Given the description of an element on the screen output the (x, y) to click on. 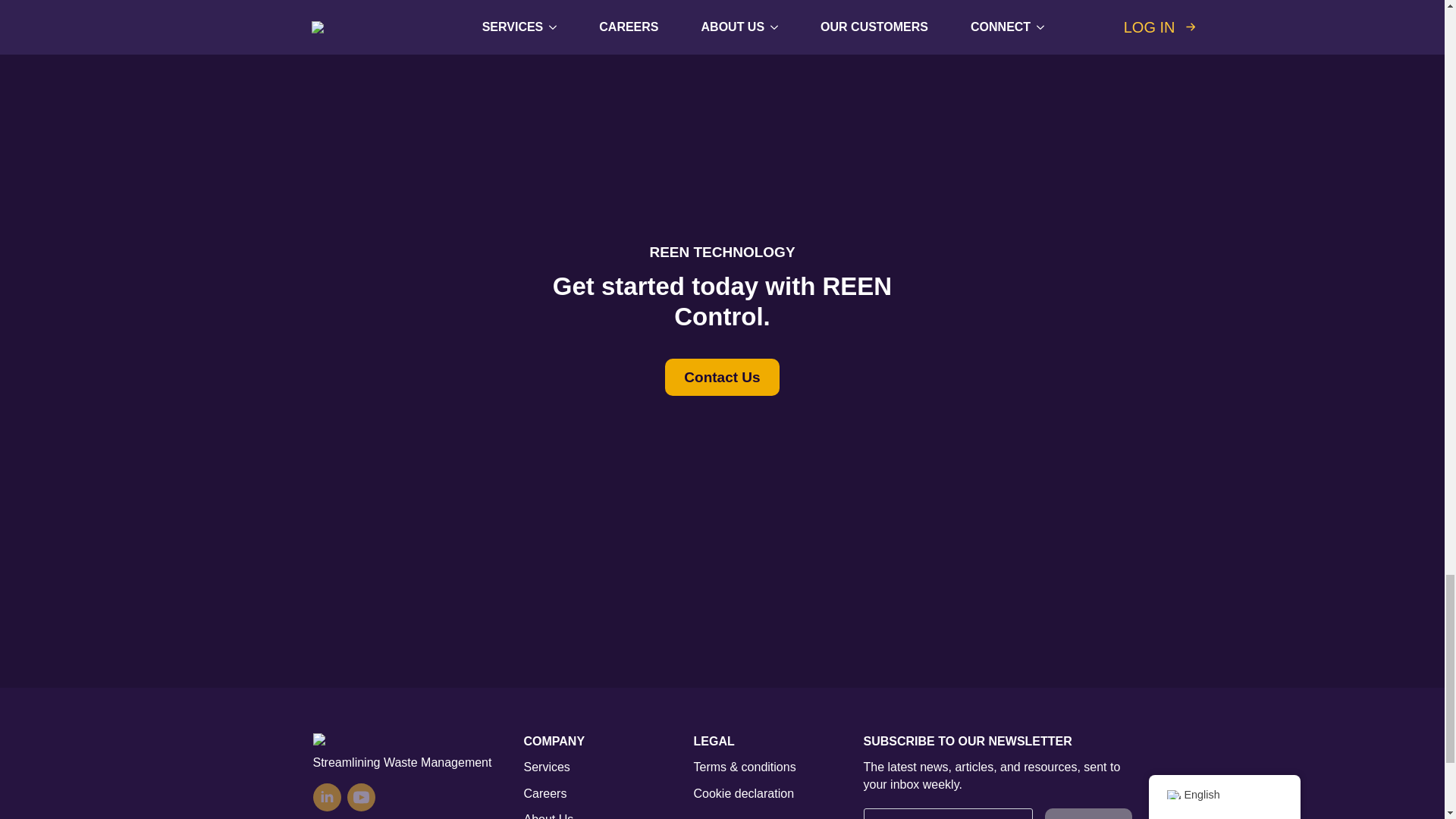
Services (545, 767)
About Us (547, 815)
Careers (544, 793)
Contact Us (721, 376)
